Given the description of an element on the screen output the (x, y) to click on. 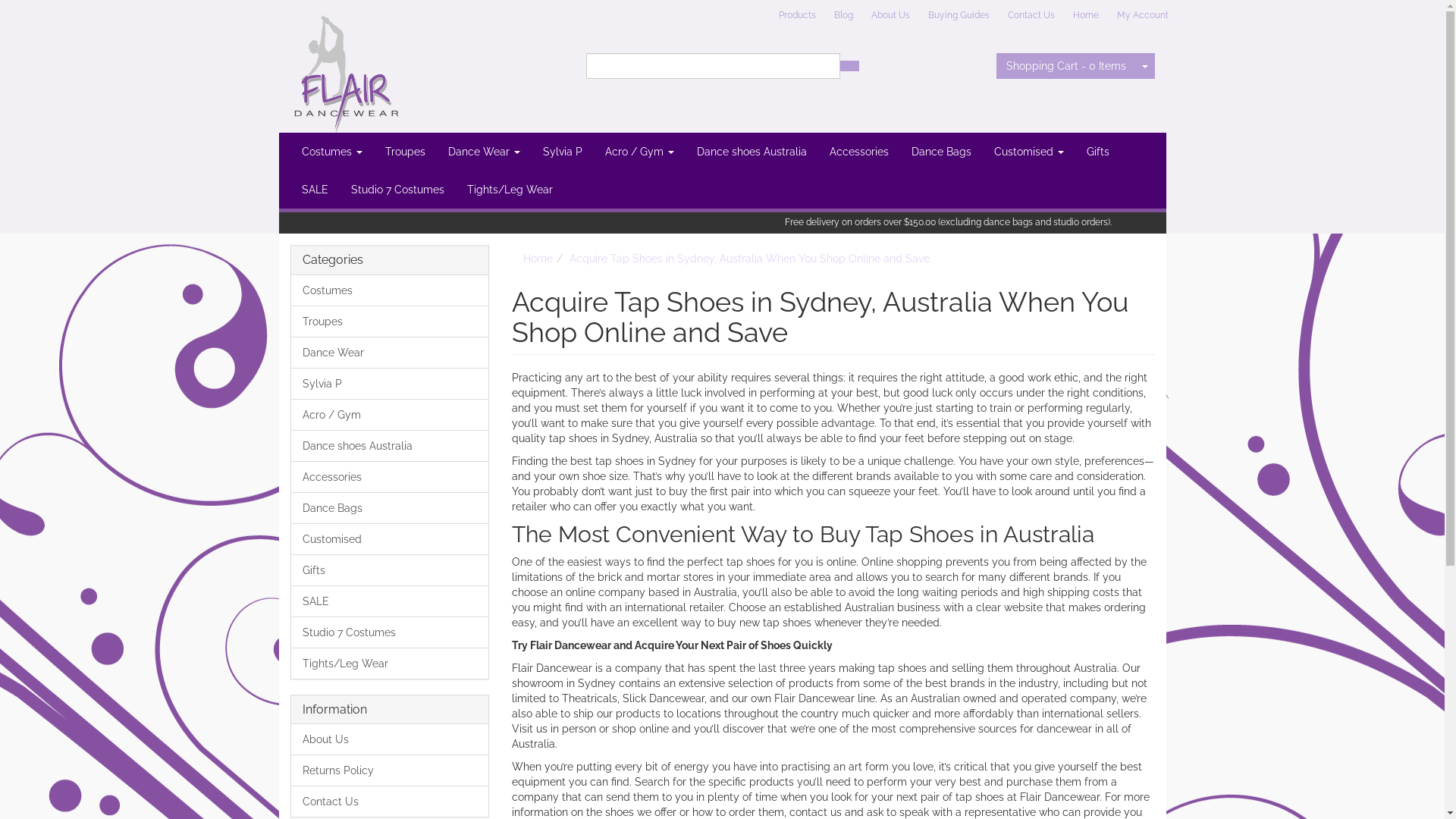
Flair Dancewear Element type: hover (343, 65)
SALE Element type: text (313, 189)
Sylvia P Element type: text (561, 151)
Search Element type: text (848, 65)
Dance Wear Element type: text (483, 151)
Customised Element type: text (1028, 151)
Products Element type: text (796, 15)
Accessories Element type: text (858, 151)
Dance Wear Element type: text (390, 352)
Costumes Element type: text (390, 290)
Studio 7 Costumes Element type: text (390, 631)
About Us Element type: text (889, 15)
My Account Element type: text (1141, 15)
Contact Us Element type: text (1030, 15)
Tights/Leg Wear Element type: text (390, 662)
Returns Policy Element type: text (390, 769)
Acro / Gym Element type: text (390, 414)
Costumes Element type: text (331, 151)
Gifts Element type: text (1097, 151)
Blog Element type: text (843, 15)
Sylvia P Element type: text (390, 382)
About Us Element type: text (390, 739)
Dance Bags Element type: text (940, 151)
Dance shoes Australia Element type: text (751, 151)
Dance shoes Australia Element type: text (390, 445)
Contact Us Element type: text (390, 800)
Acro / Gym Element type: text (638, 151)
Tights/Leg Wear Element type: text (509, 189)
Troupes Element type: text (404, 151)
Gifts Element type: text (390, 569)
Troupes Element type: text (390, 320)
Home Element type: text (1085, 15)
Home Element type: text (537, 258)
Studio 7 Costumes Element type: text (397, 189)
Shopping Cart - 0 Items Element type: text (1065, 65)
Accessories Element type: text (390, 476)
SALE Element type: text (390, 600)
Customised Element type: text (390, 539)
Dance Bags Element type: text (390, 507)
Buying Guides Element type: text (958, 15)
